Given the description of an element on the screen output the (x, y) to click on. 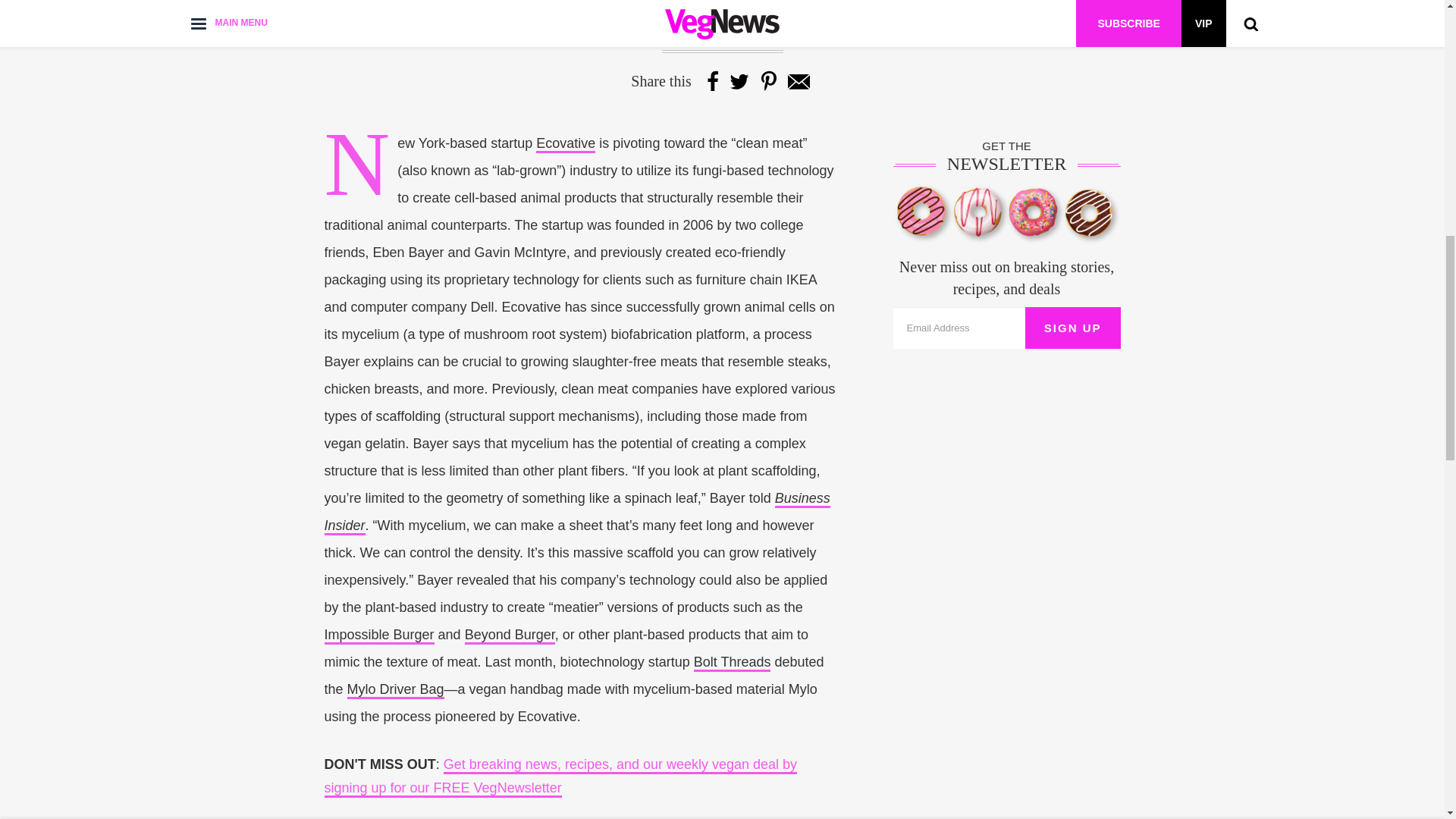
Share article on Twitter (739, 80)
Share article via email (798, 80)
Sign Up (1073, 327)
